Given the description of an element on the screen output the (x, y) to click on. 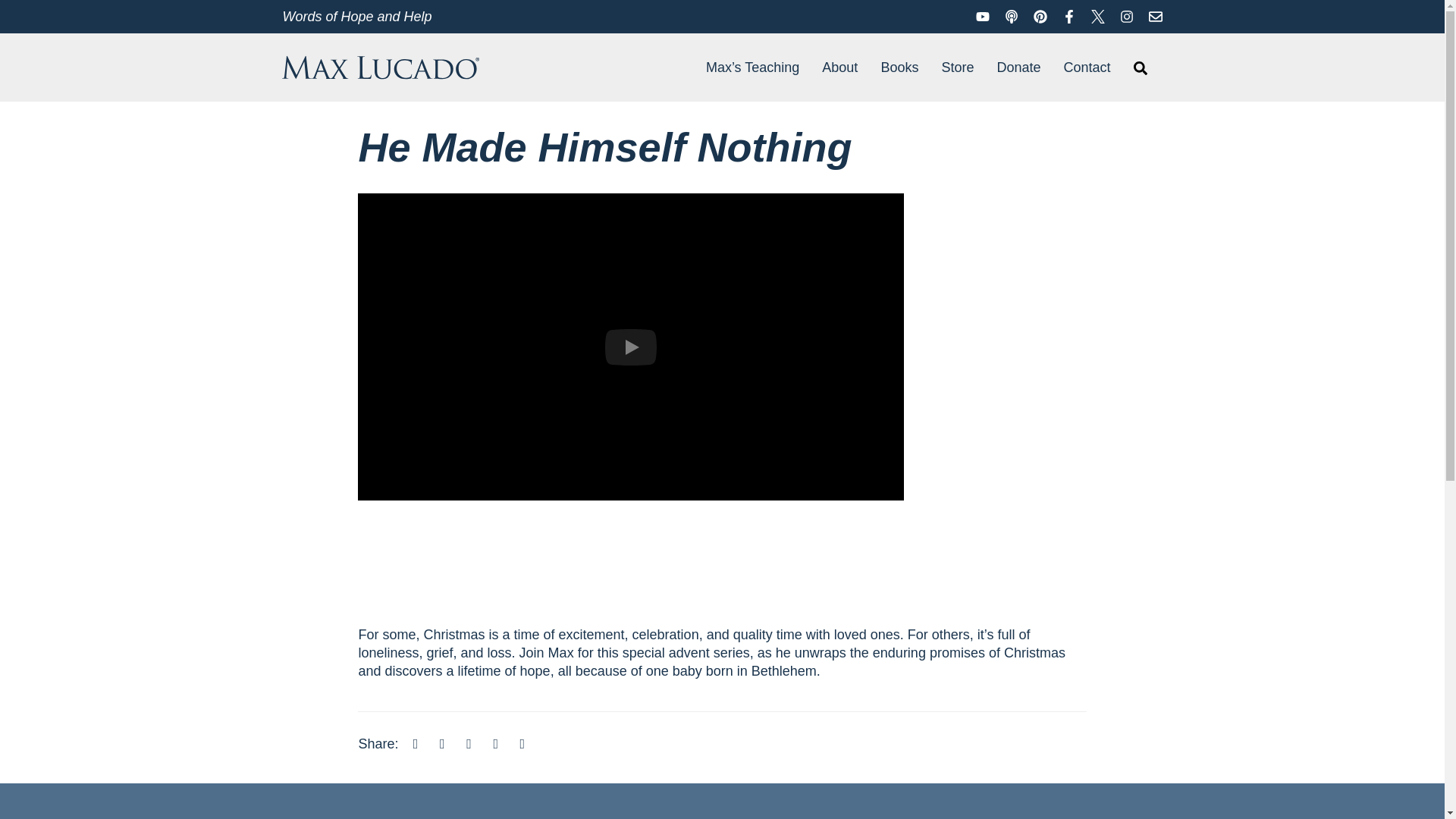
Share via Pinterest (495, 743)
Twitter (1097, 15)
Donate (1018, 67)
Share via linkedIn (469, 743)
Max Lucado (380, 66)
Send Email (1154, 15)
Podcast (1010, 15)
Facebook (1068, 15)
Store (957, 67)
Pinterest (1039, 15)
